Given the description of an element on the screen output the (x, y) to click on. 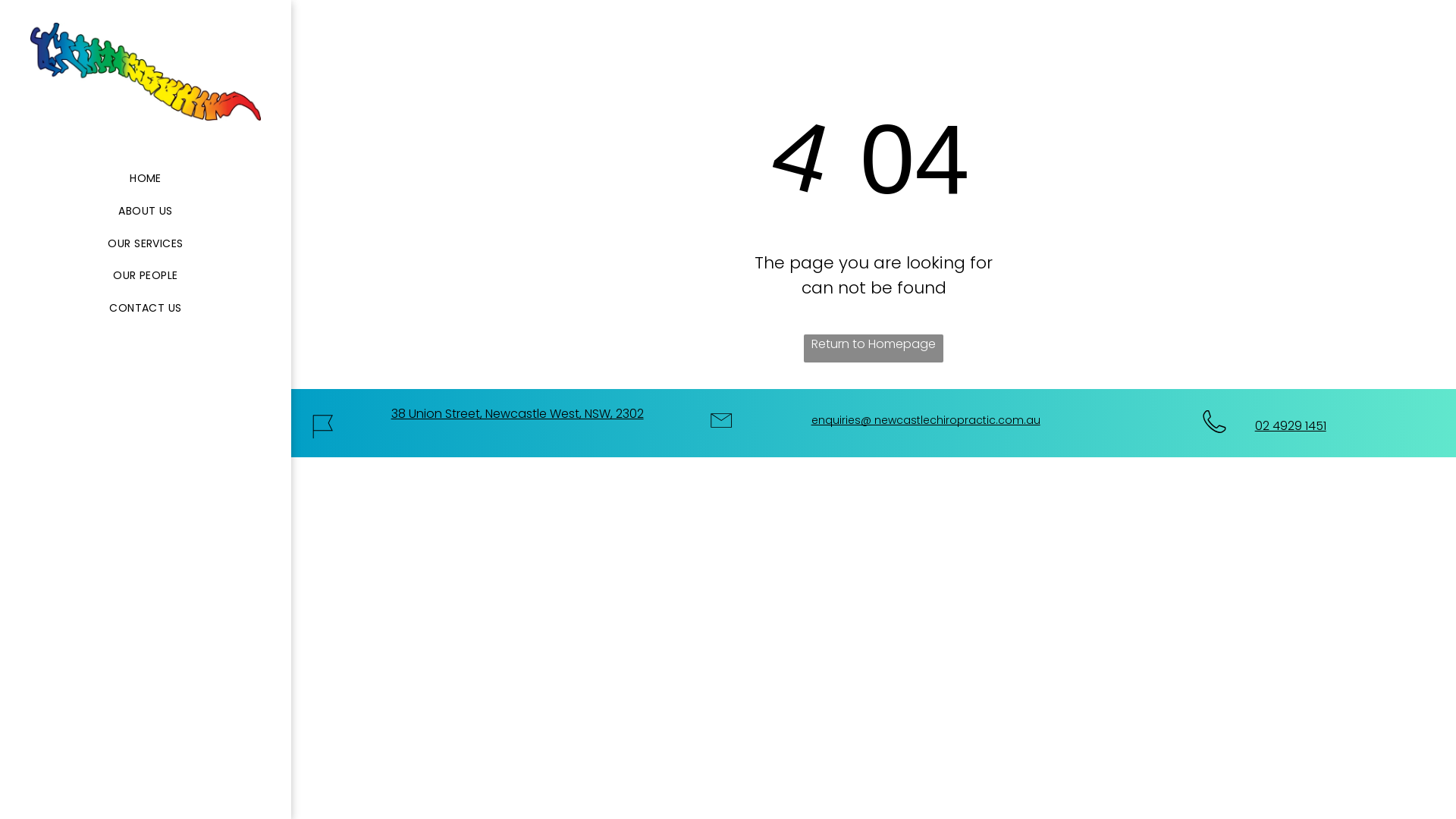
38 Union Street, Newcastle West, NSW, 2302 Element type: text (517, 413)
ABOUT US Element type: text (145, 210)
OUR SERVICES Element type: text (145, 243)
enquiries@ newcastlechiropractic.com.au Element type: text (925, 419)
02 4929 1451 Element type: text (1290, 425)
HOME Element type: text (145, 179)
CONTACT US Element type: text (145, 307)
OUR PEOPLE Element type: text (145, 275)
Return to Homepage Element type: text (873, 348)
